Given the description of an element on the screen output the (x, y) to click on. 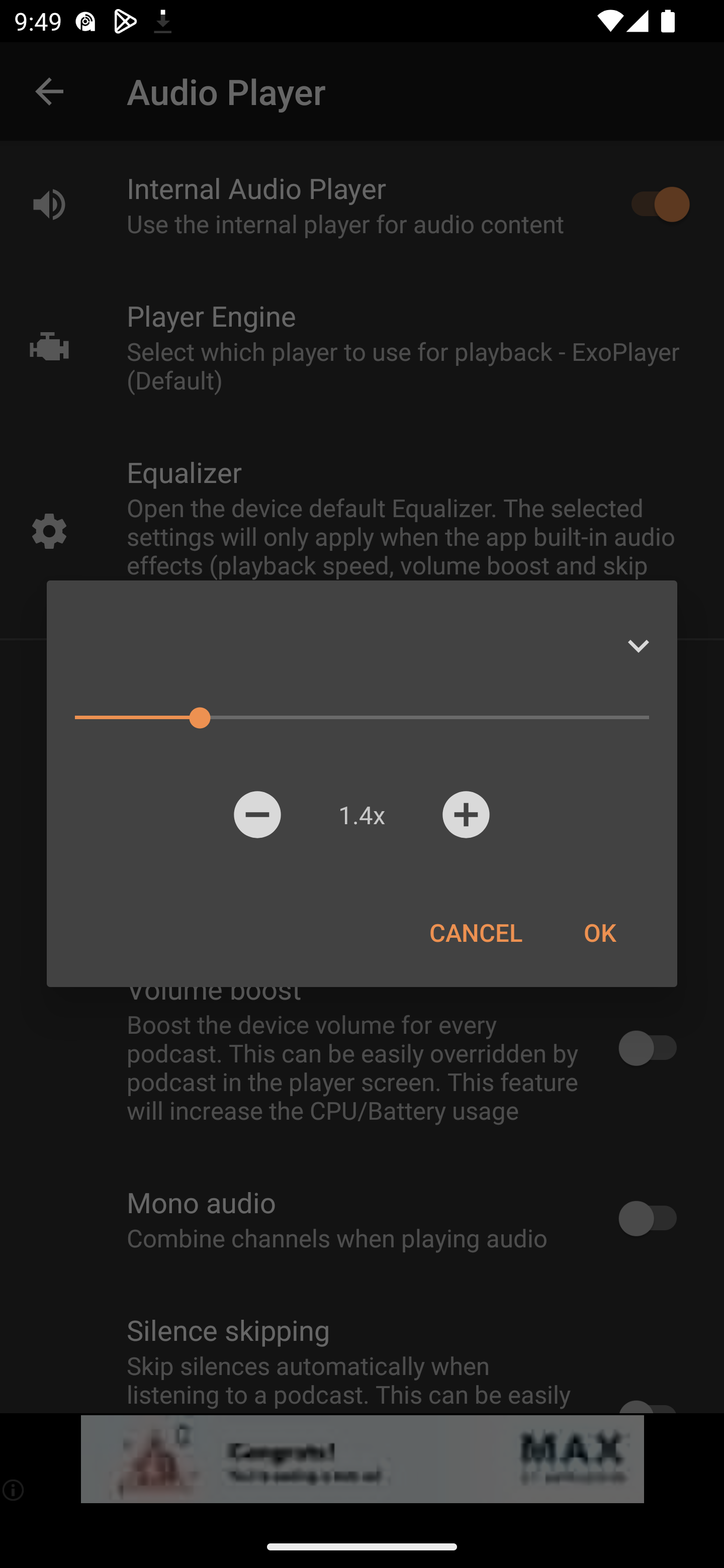
Expand (637, 645)
1.4x (361, 814)
CANCEL (475, 932)
OK (599, 932)
